Given the description of an element on the screen output the (x, y) to click on. 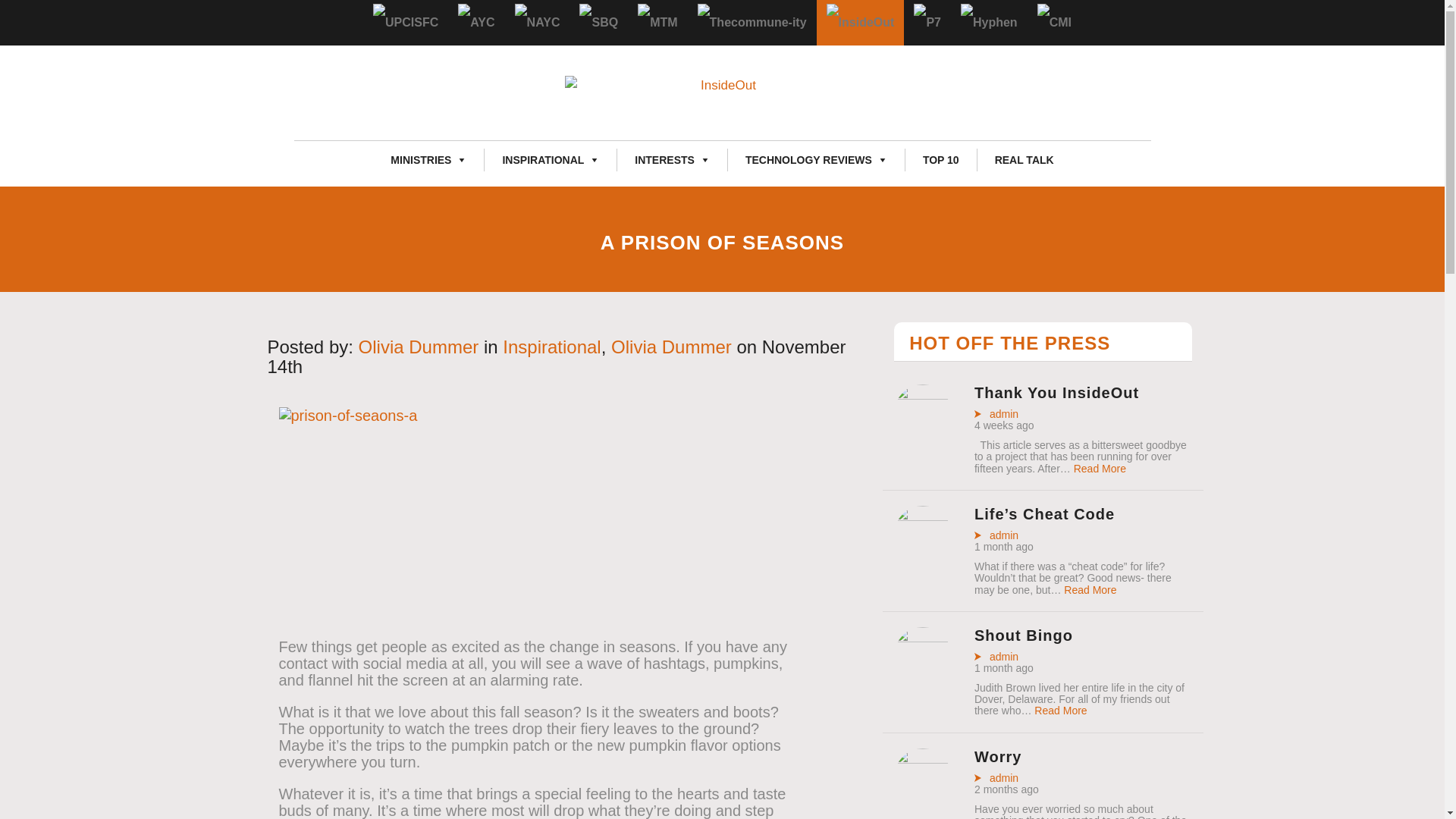
Posts by admin (995, 778)
Worry (922, 797)
Thank You InsideOut (922, 433)
Facebook (1014, 121)
Twitter (1042, 121)
MINISTRIES (427, 159)
Shout Bingo (922, 676)
Posts by admin (995, 414)
INSPIRATIONAL (549, 159)
YouTube (1099, 121)
